Given the description of an element on the screen output the (x, y) to click on. 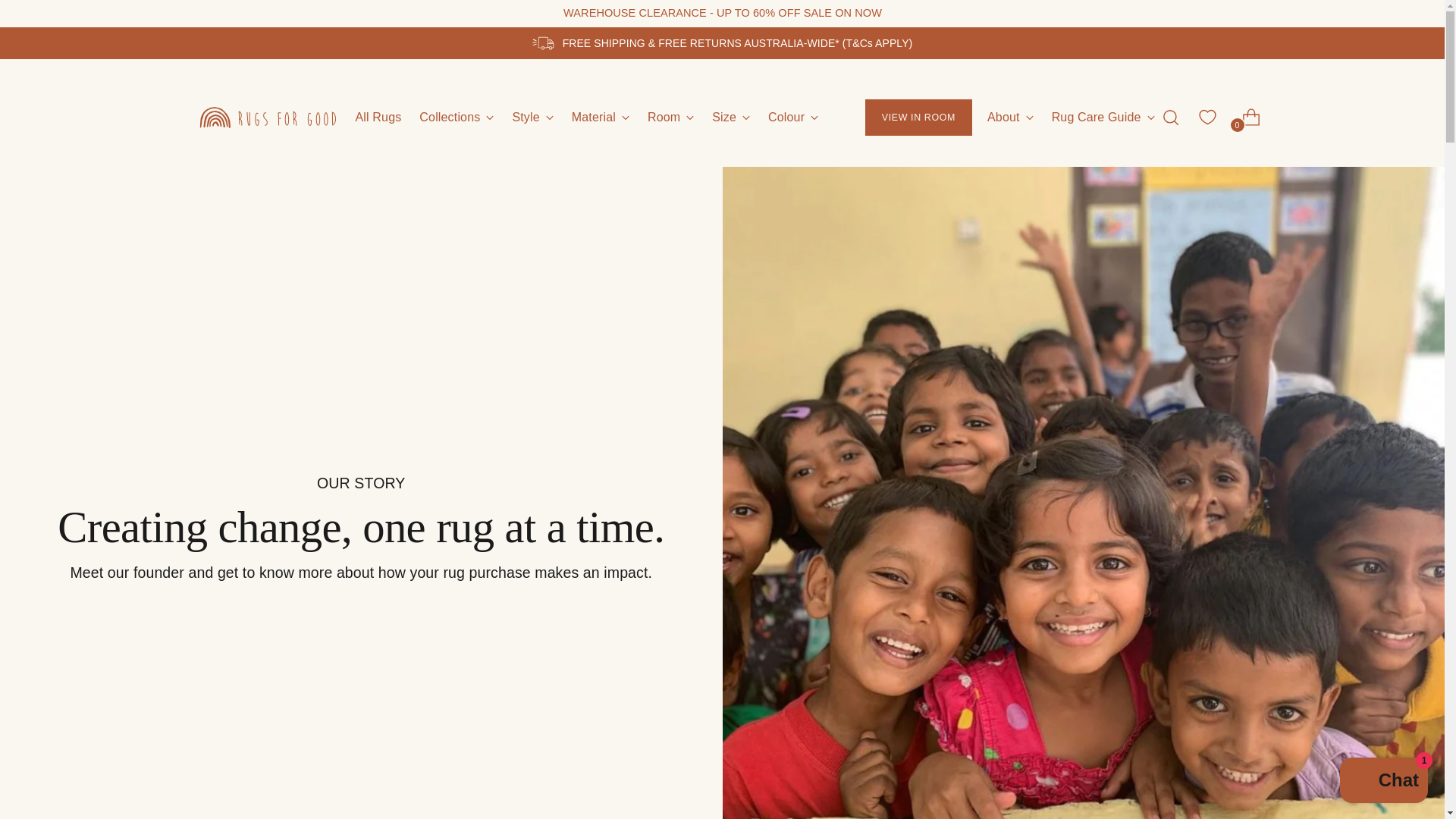
All Rugs (587, 117)
Shopify online store chat (378, 117)
Collections (1383, 781)
Style (456, 117)
